Given the description of an element on the screen output the (x, y) to click on. 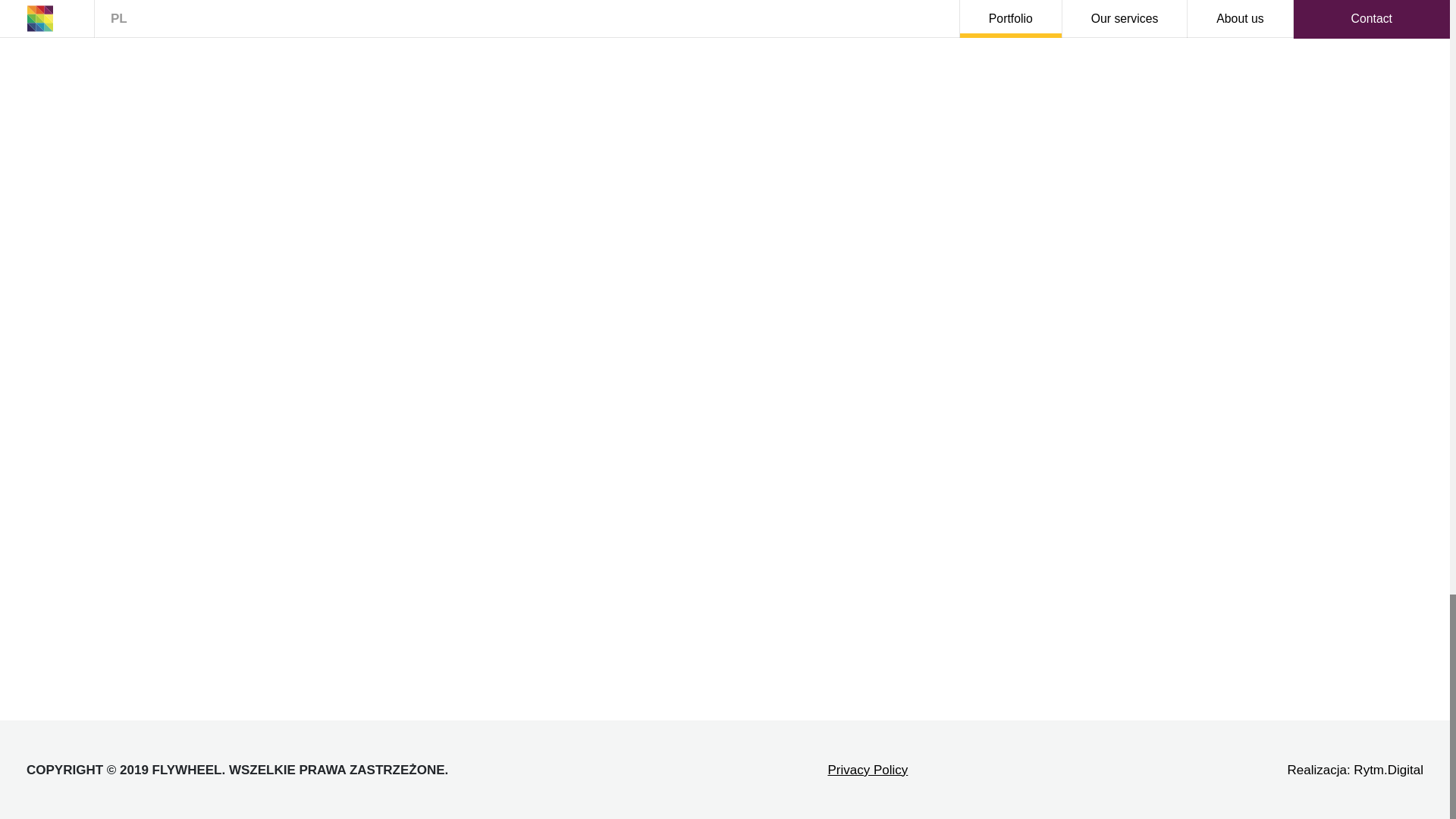
Privacy Policy (867, 769)
Send (1148, 587)
Realizacja: Rytm.Digital (1355, 769)
